Given the description of an element on the screen output the (x, y) to click on. 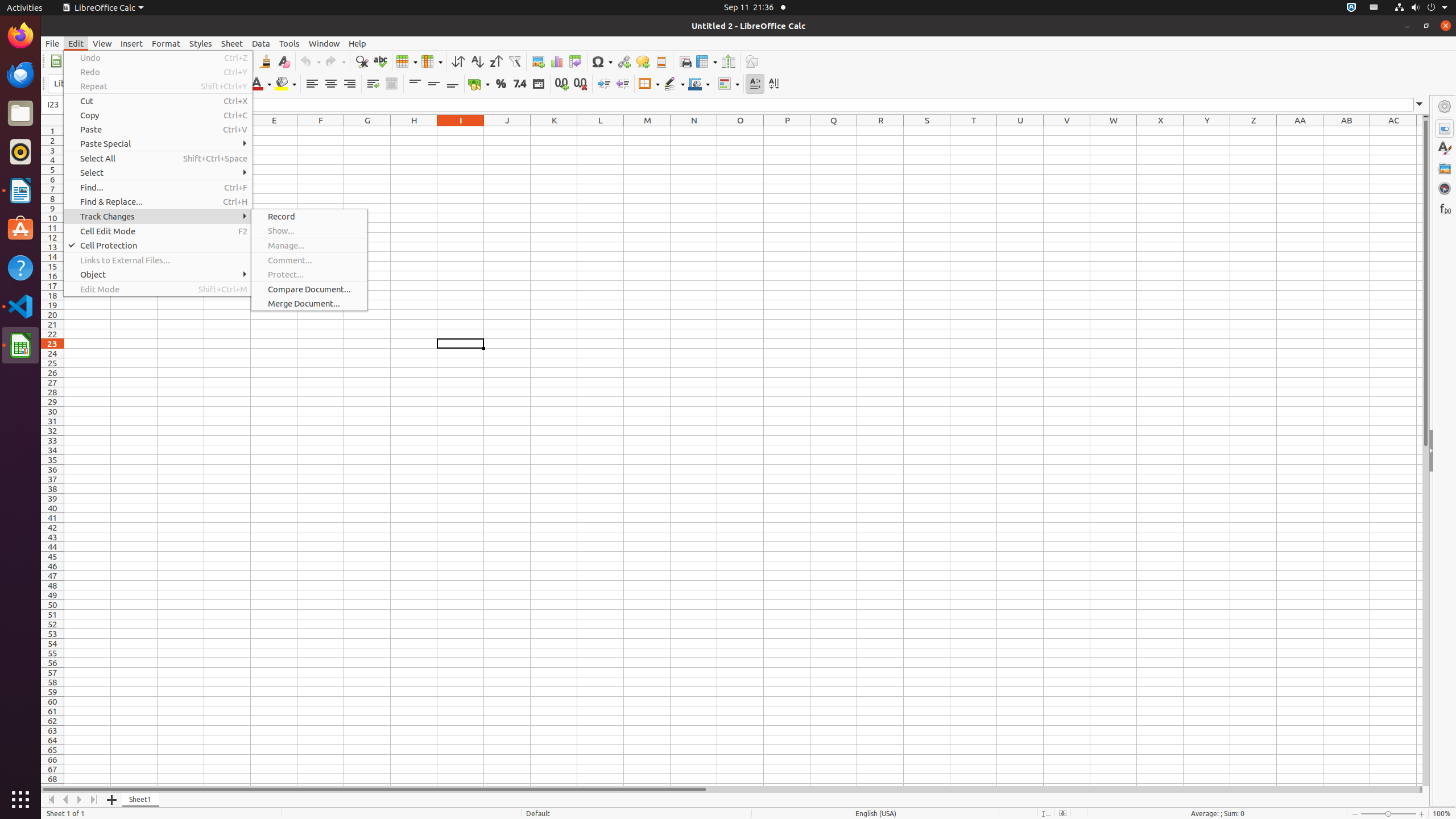
Gallery Element type: radio-button (1444, 168)
Sheet1 Element type: page-tab (140, 799)
K1 Element type: table-cell (553, 130)
L1 Element type: table-cell (600, 130)
